Given the description of an element on the screen output the (x, y) to click on. 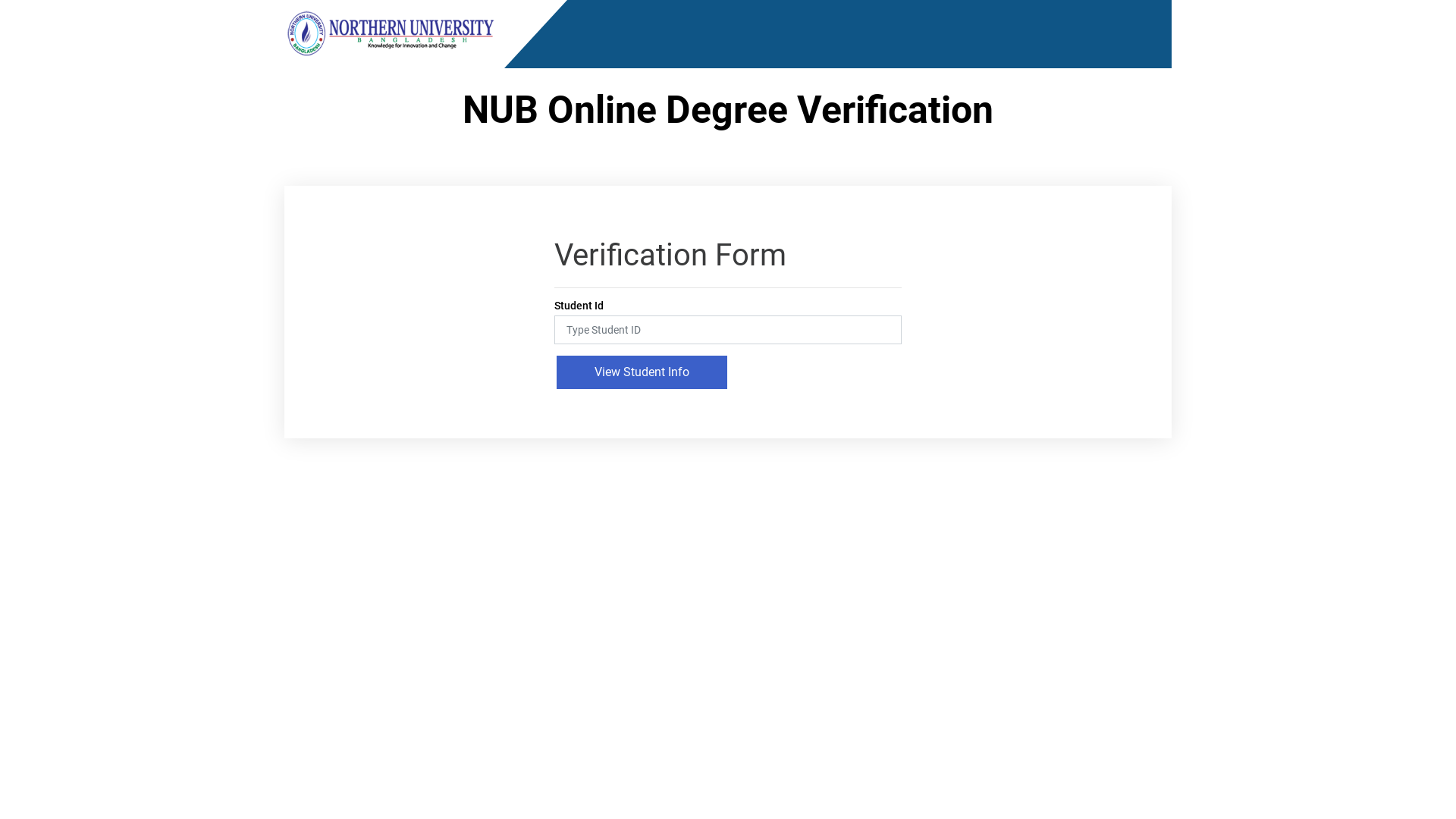
View Student Info Element type: text (641, 372)
